Given the description of an element on the screen output the (x, y) to click on. 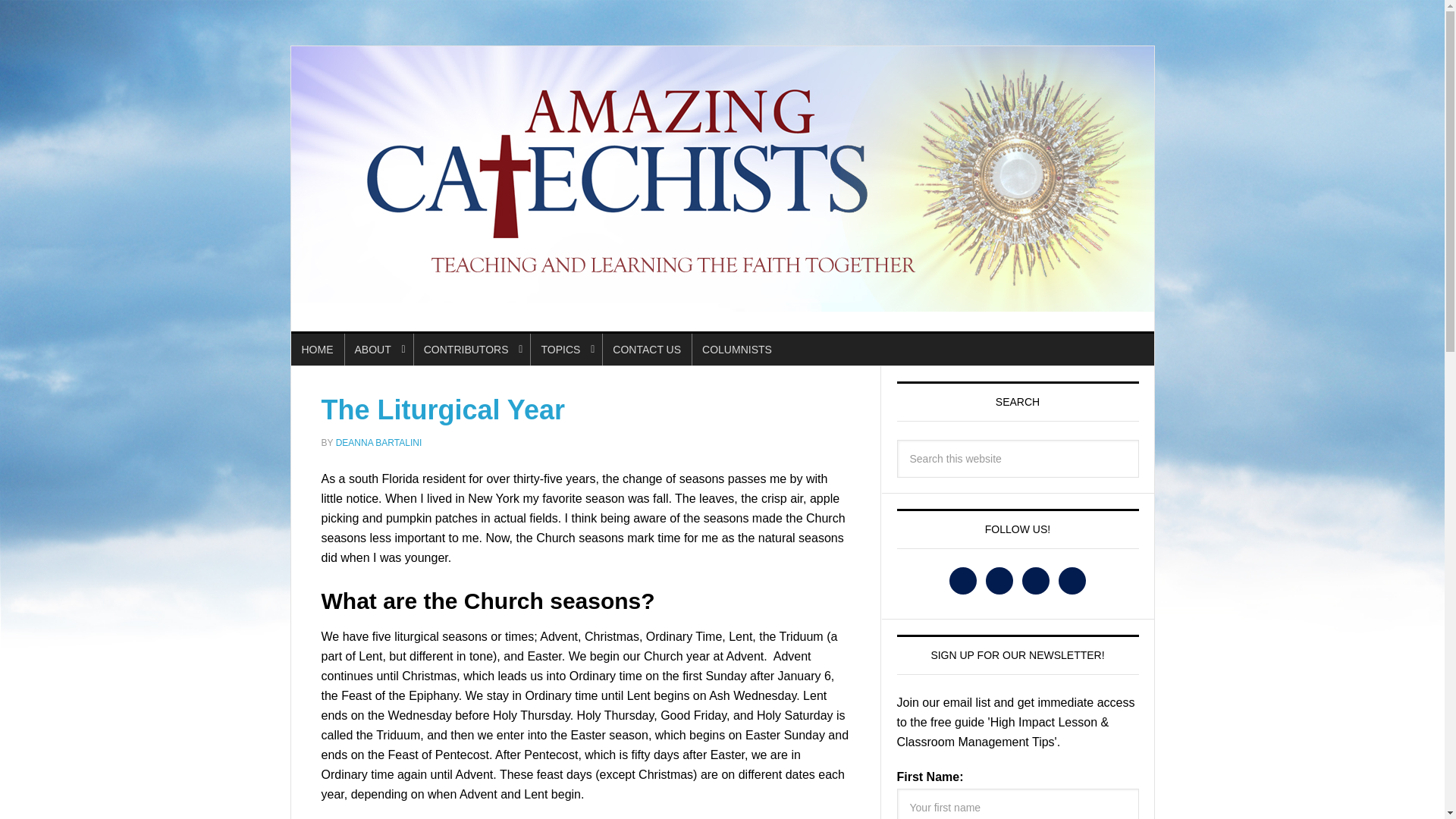
CONTRIBUTORS (472, 349)
HOME (317, 349)
ABOUT (378, 349)
